Given the description of an element on the screen output the (x, y) to click on. 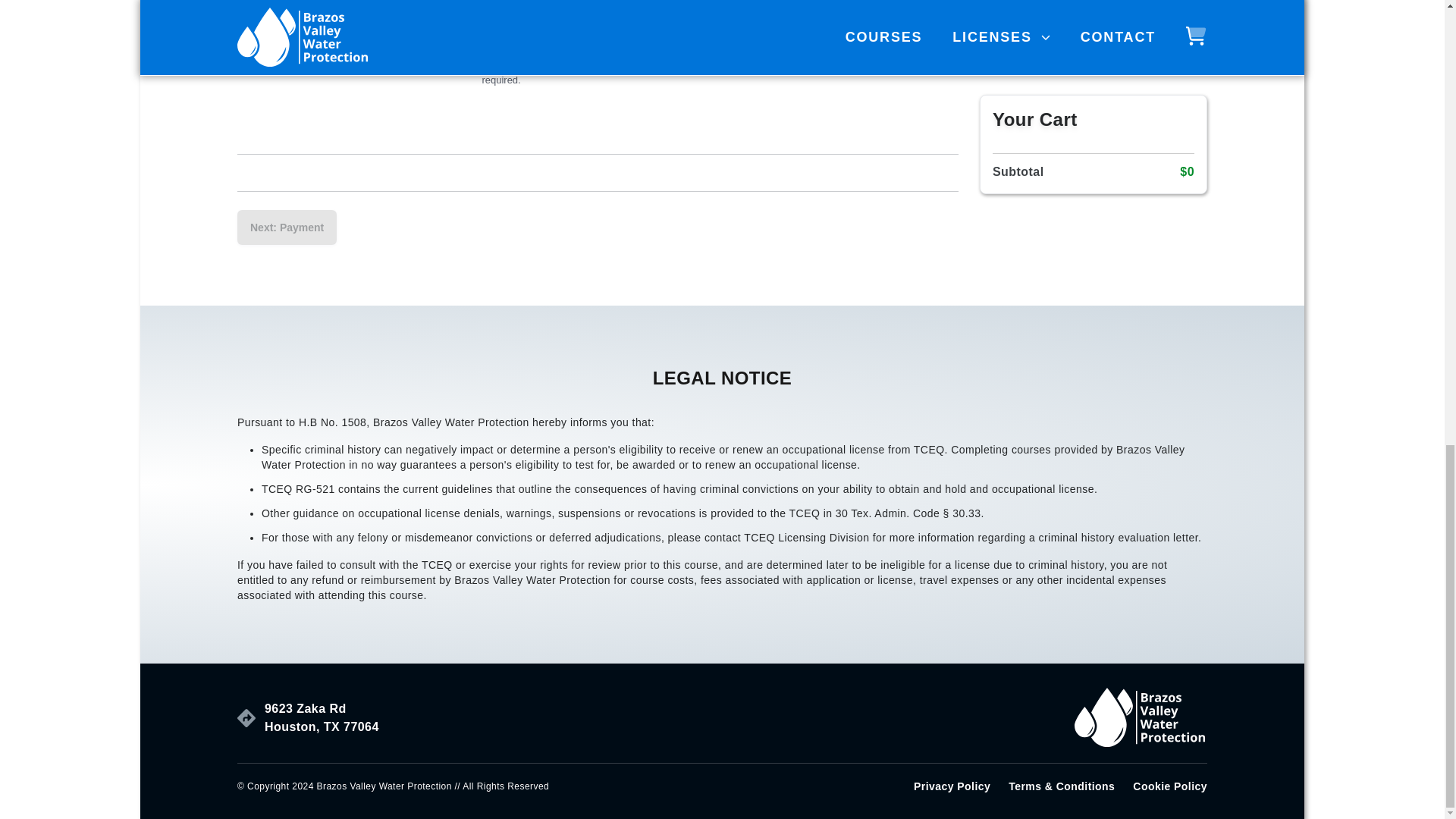
Next: Payment (286, 226)
No (372, 34)
Yes (321, 717)
Privacy Policy (244, 34)
Cookie Policy (952, 786)
Next: Payment (1169, 786)
